Given the description of an element on the screen output the (x, y) to click on. 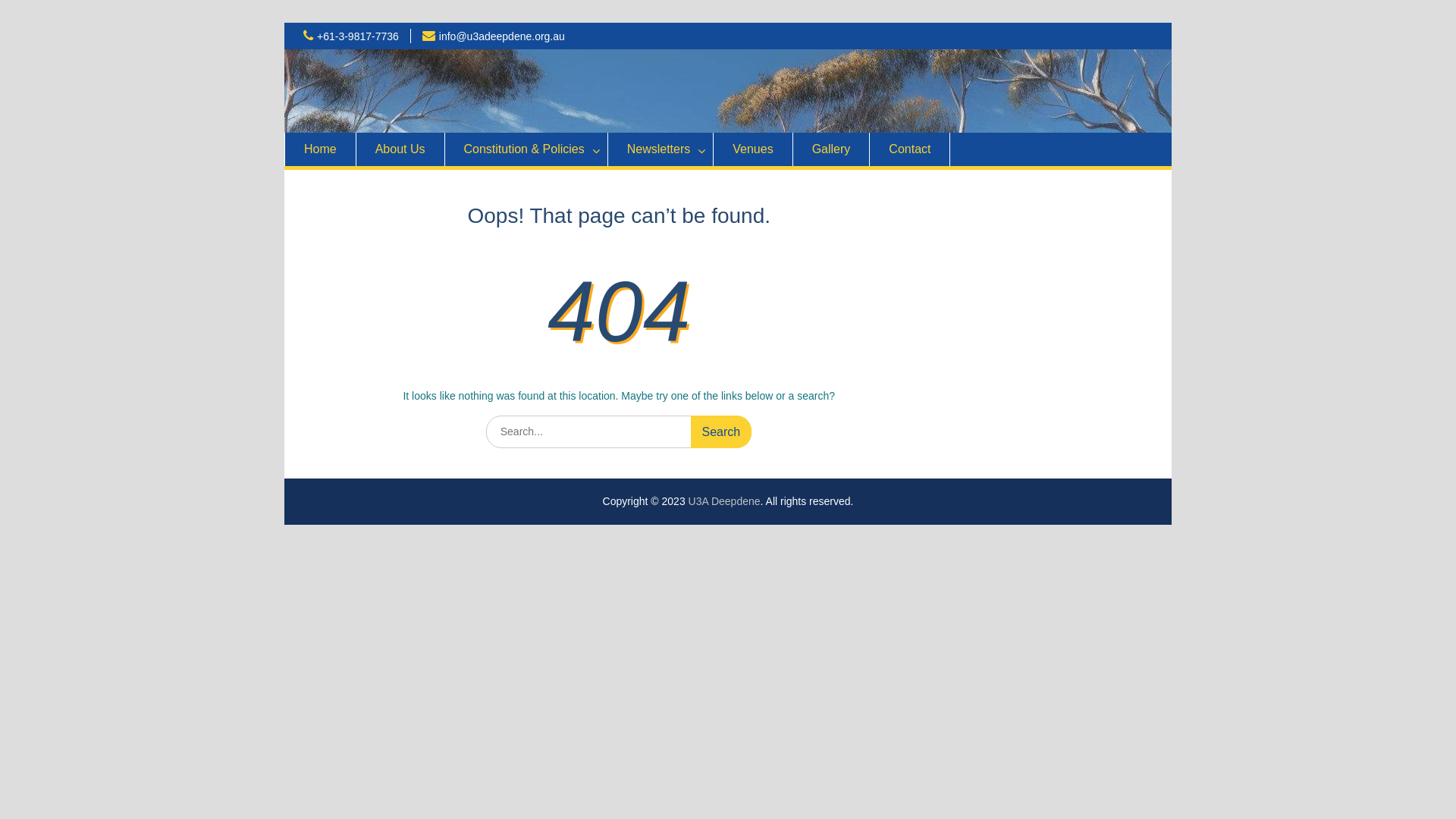
About Us Element type: text (400, 149)
info@u3adeepdene.org.au Element type: text (501, 36)
Home Element type: text (320, 149)
Venues Element type: text (752, 149)
Contact Element type: text (909, 149)
+61-3-9817-7736 Element type: text (357, 36)
Gallery Element type: text (831, 149)
U3A Deepdene Element type: text (724, 500)
Skip to content Element type: text (294, 21)
Search Element type: text (721, 431)
Newsletters Element type: text (661, 149)
Constitution & Policies Element type: text (525, 149)
Search for: Element type: hover (618, 431)
